Given the description of an element on the screen output the (x, y) to click on. 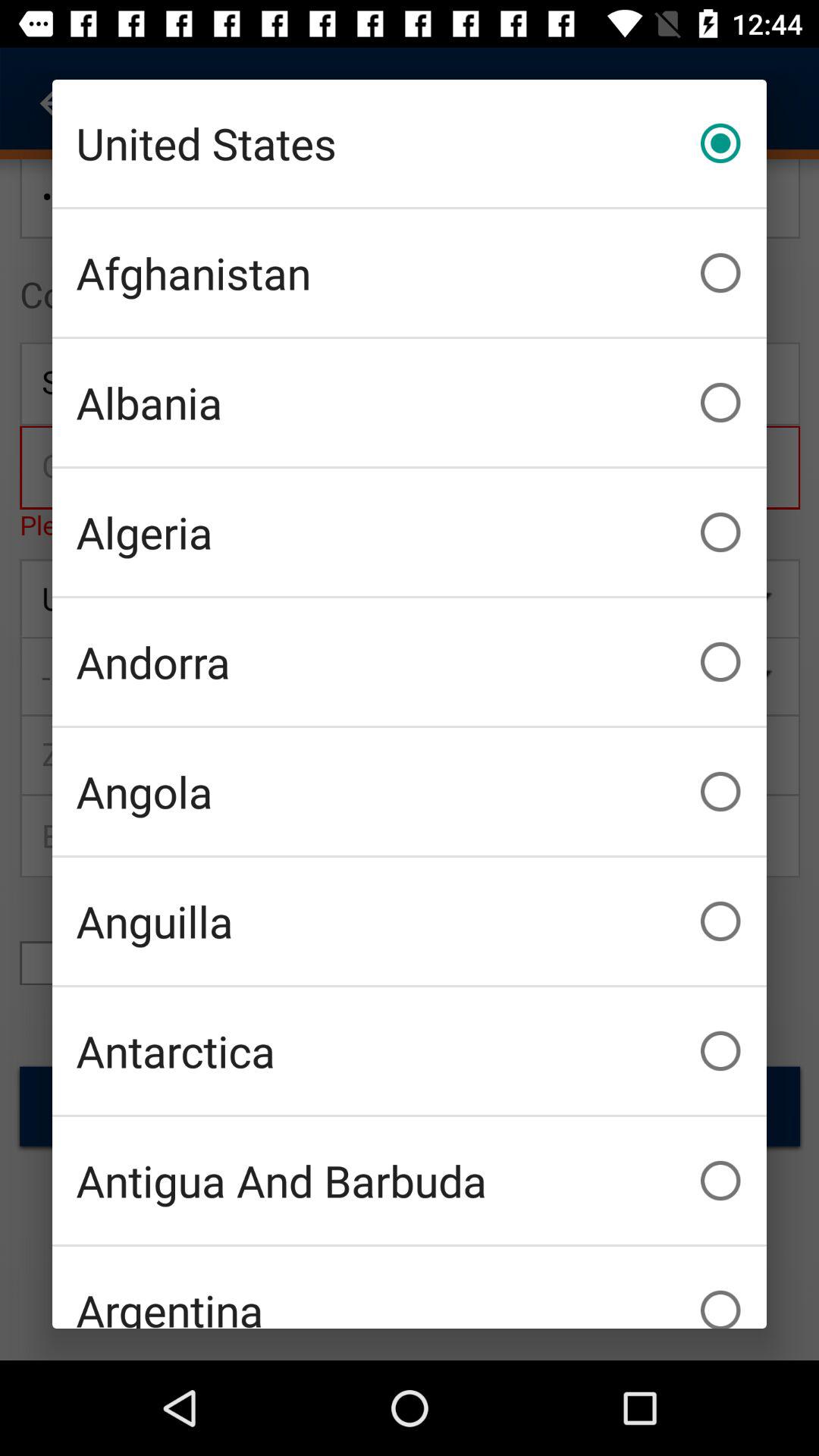
flip until argentina item (409, 1287)
